Given the description of an element on the screen output the (x, y) to click on. 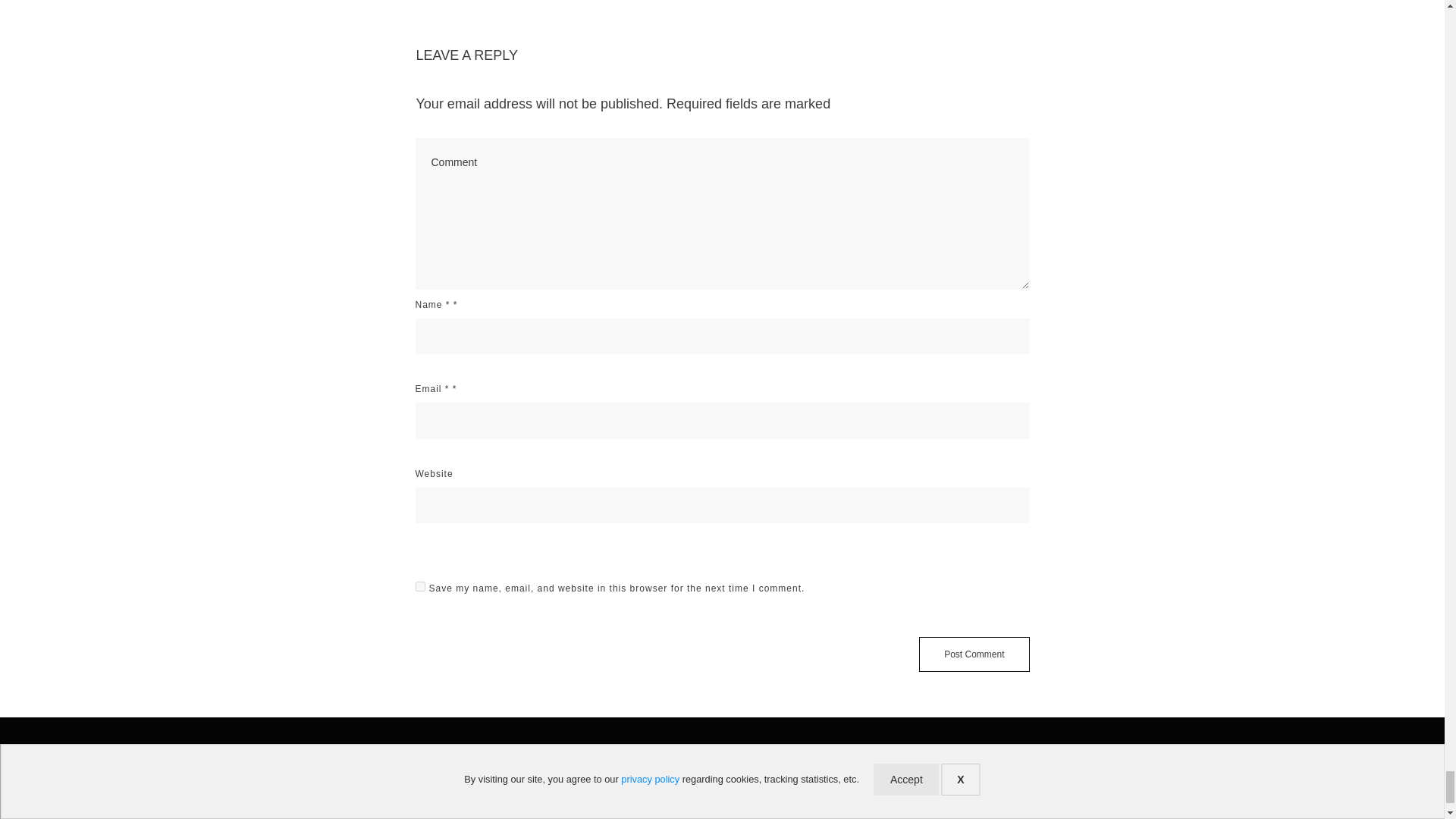
yes (419, 586)
